Given the description of an element on the screen output the (x, y) to click on. 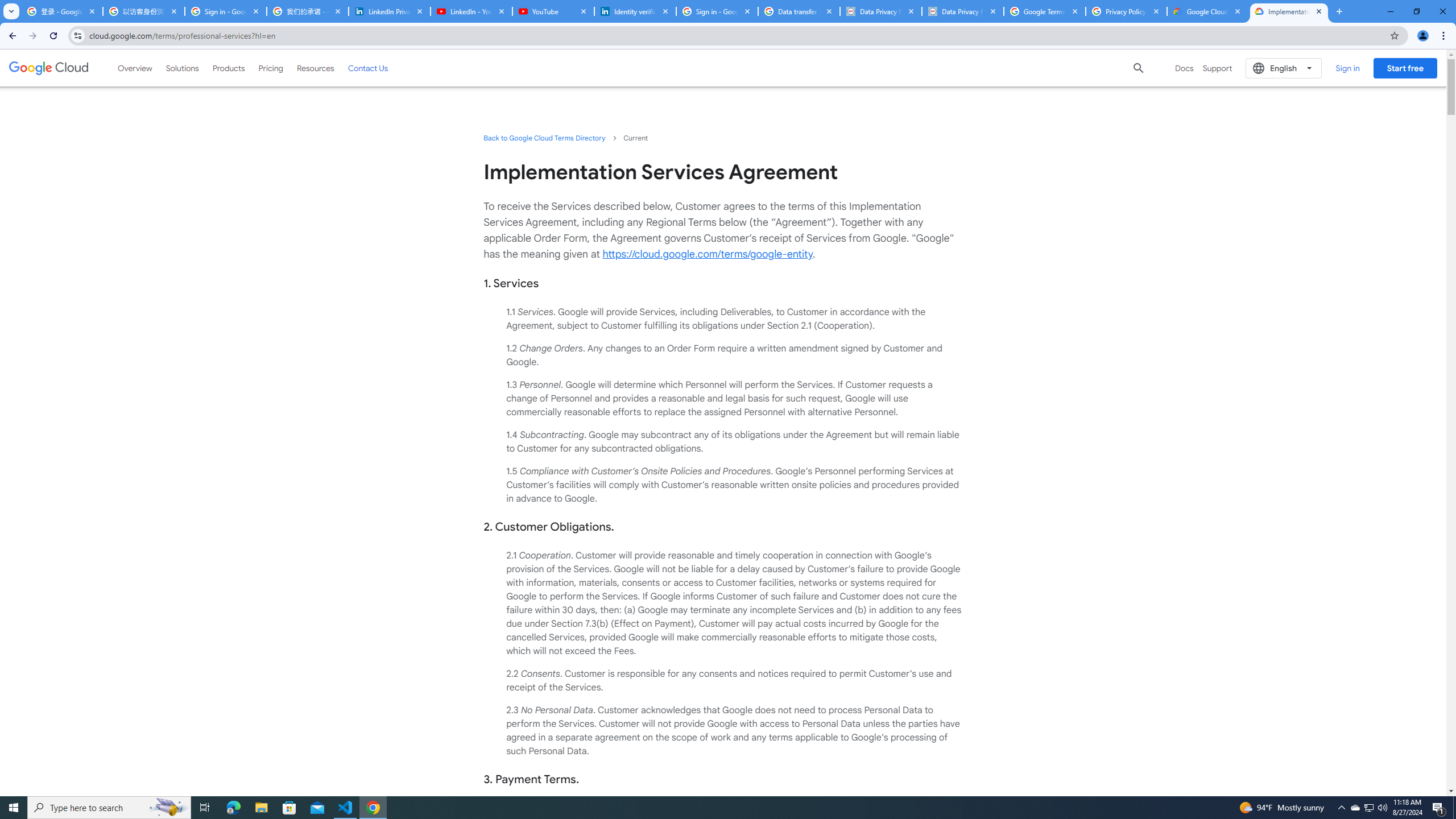
Data Privacy Framework (963, 11)
LinkedIn - YouTube (470, 11)
LinkedIn Privacy Policy (389, 11)
Solutions (181, 67)
YouTube (552, 11)
Start free (1405, 67)
